Given the description of an element on the screen output the (x, y) to click on. 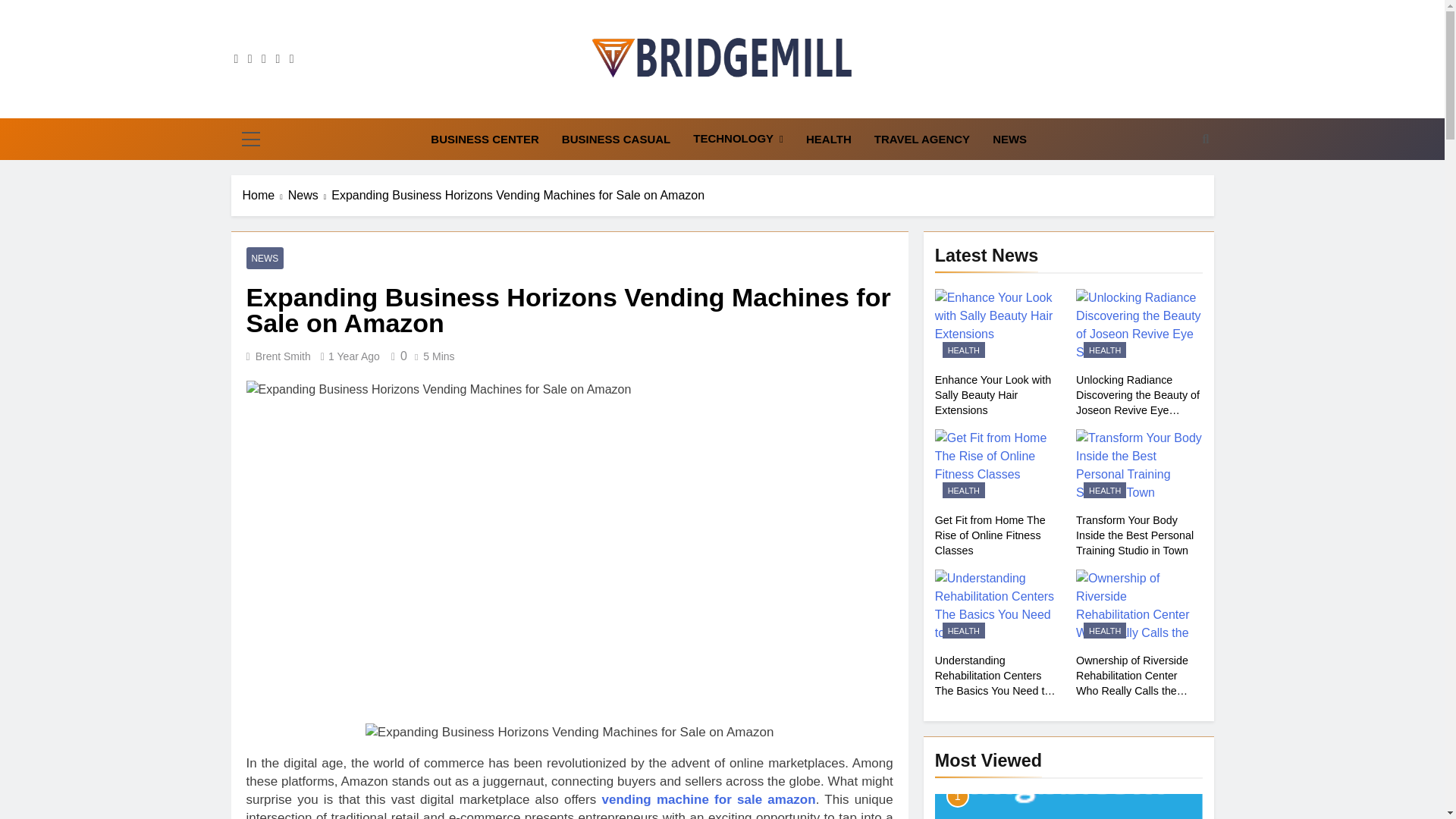
BUSINESS CENTER (484, 138)
NEWS (1009, 138)
HEALTH (828, 138)
Get Fit from Home The Rise of Online Fitness Classes (997, 467)
Exploring the Family Lawyer Salary Landscape (1068, 806)
Home (265, 195)
